Given the description of an element on the screen output the (x, y) to click on. 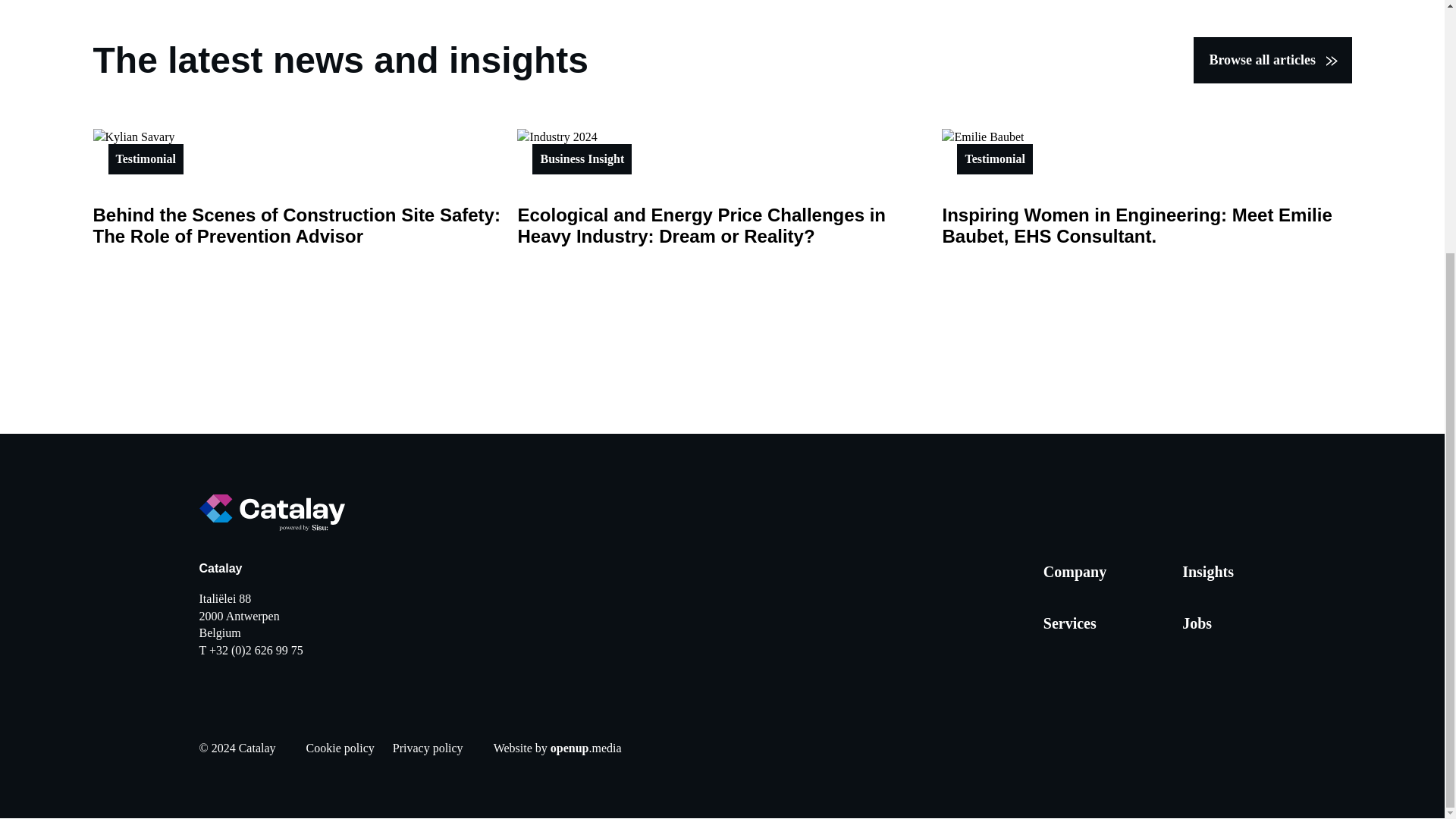
Cookie policy (339, 748)
Company (1074, 571)
Services (1069, 623)
Browse all articles (1272, 60)
Visit www.openupmedia.be (557, 748)
Jobs (1196, 623)
Website by openup.media (557, 748)
Privacy policy (428, 748)
Insights (1207, 571)
